Given the description of an element on the screen output the (x, y) to click on. 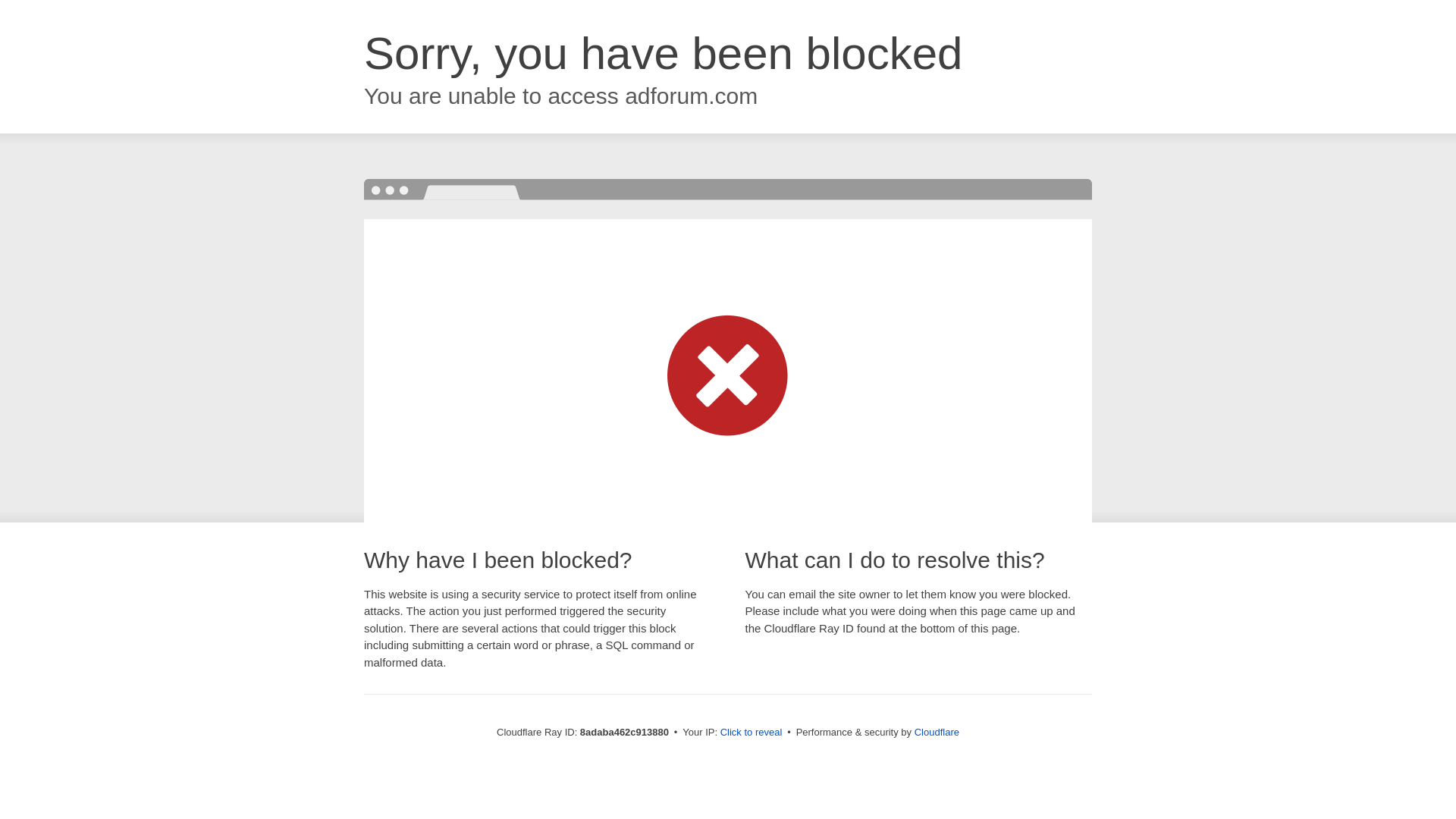
Click to reveal (751, 732)
Cloudflare (936, 731)
